Given the description of an element on the screen output the (x, y) to click on. 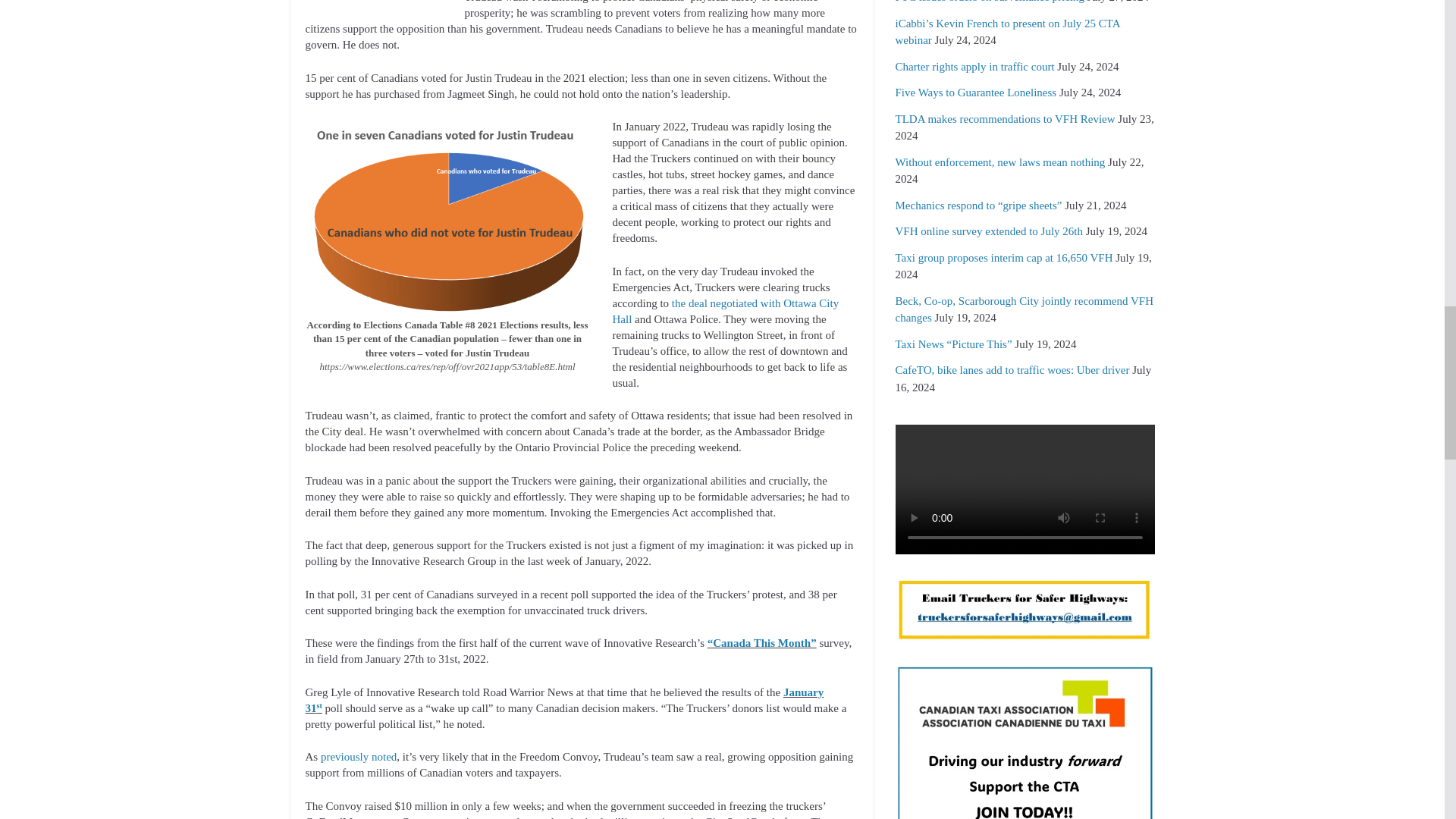
previously noted (358, 756)
January 31st (564, 700)
the deal negotiated with Ottawa City Hall (726, 311)
